Given the description of an element on the screen output the (x, y) to click on. 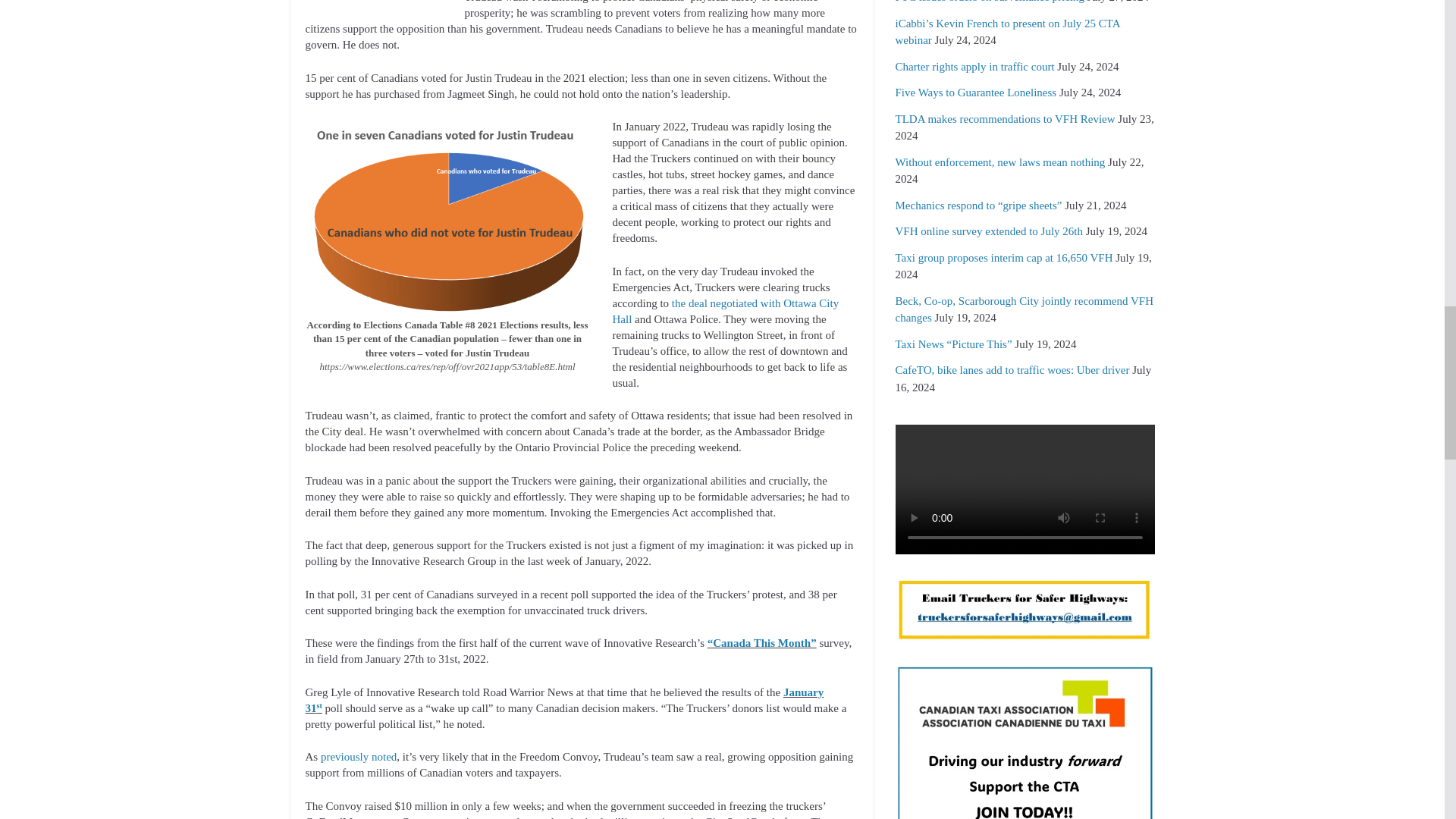
previously noted (358, 756)
January 31st (564, 700)
the deal negotiated with Ottawa City Hall (726, 311)
